Given the description of an element on the screen output the (x, y) to click on. 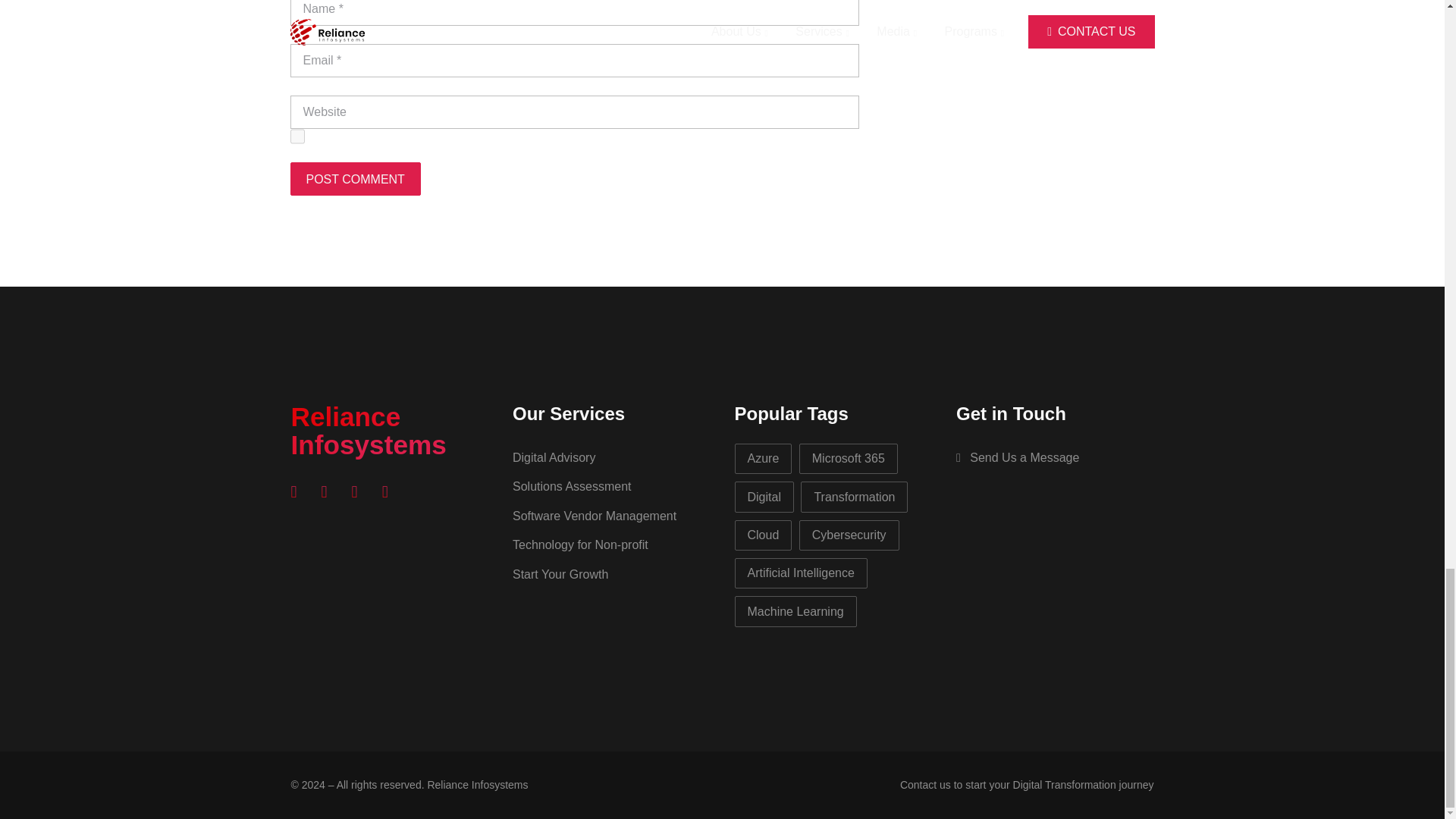
yes (296, 136)
Post Comment (354, 178)
Post Comment (354, 178)
